Given the description of an element on the screen output the (x, y) to click on. 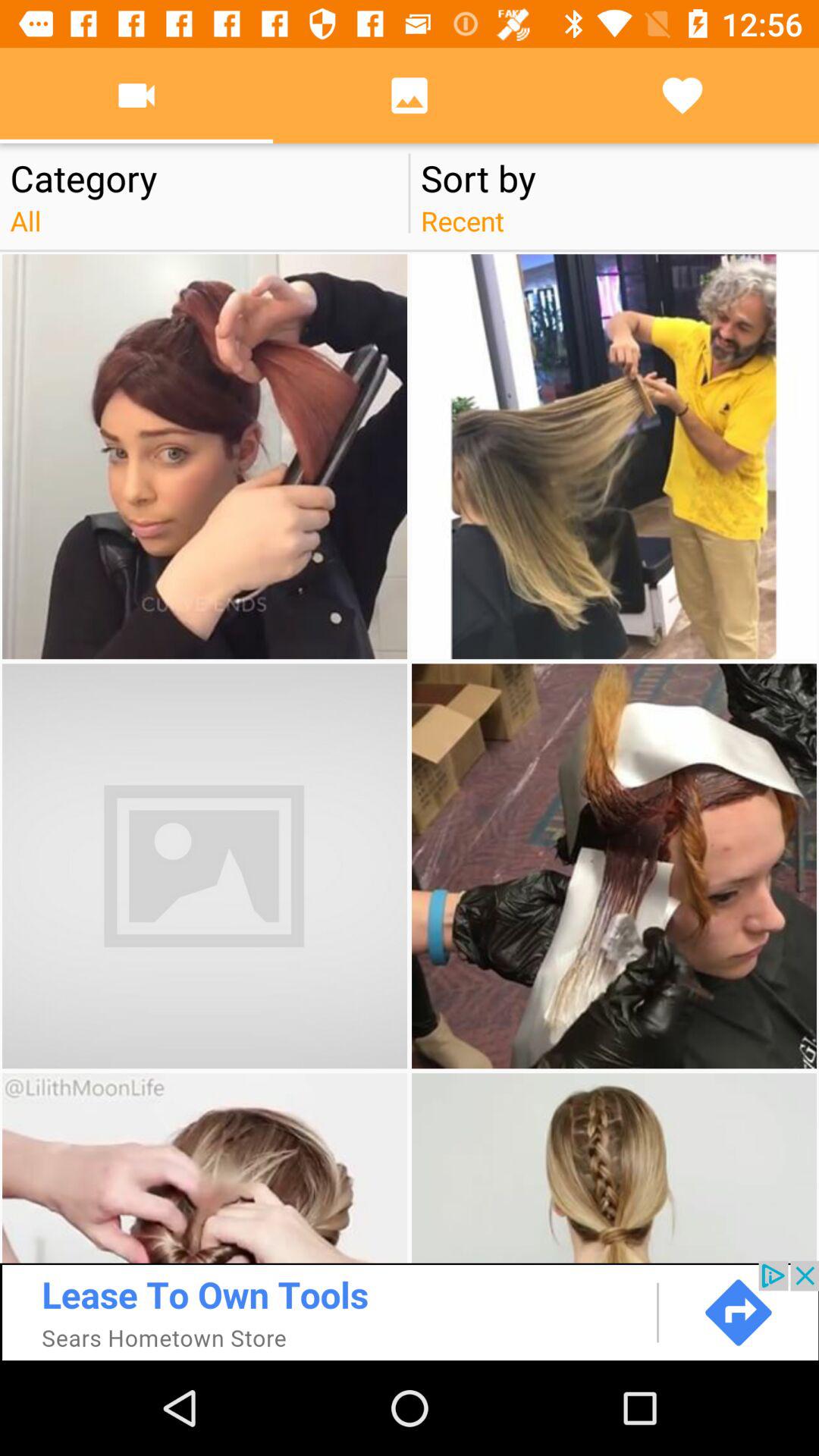
advertisement panel (409, 1310)
